Given the description of an element on the screen output the (x, y) to click on. 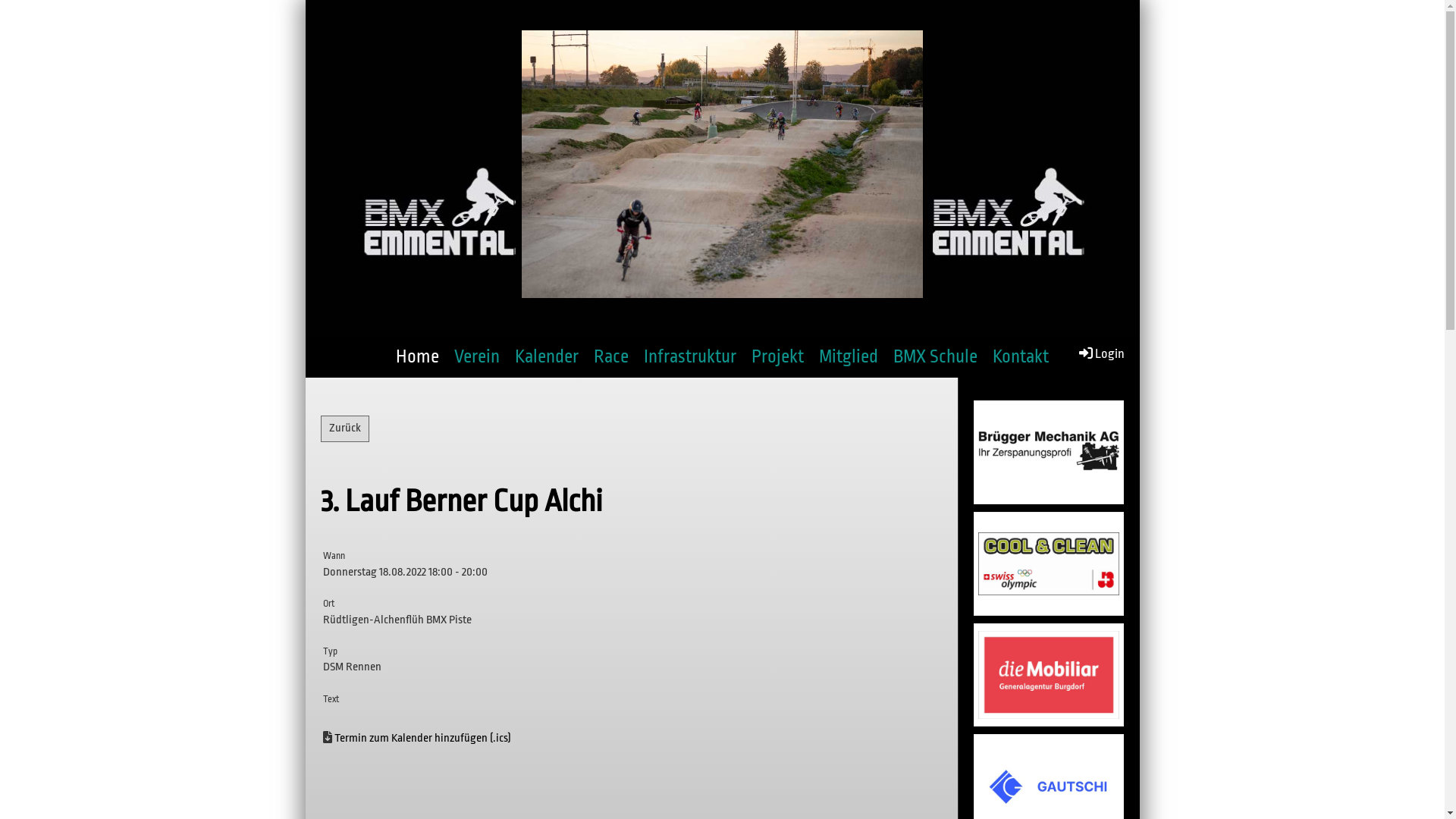
Projekt Element type: text (777, 356)
Kontakt Element type: text (1020, 356)
Race Element type: text (611, 356)
BMX Schule Element type: text (935, 356)
Login Element type: text (1100, 353)
Home Element type: text (417, 356)
Infrastruktur Element type: text (689, 356)
Kalender Element type: text (546, 356)
Verein Element type: text (476, 356)
Mitglied Element type: text (848, 356)
